Given the description of an element on the screen output the (x, y) to click on. 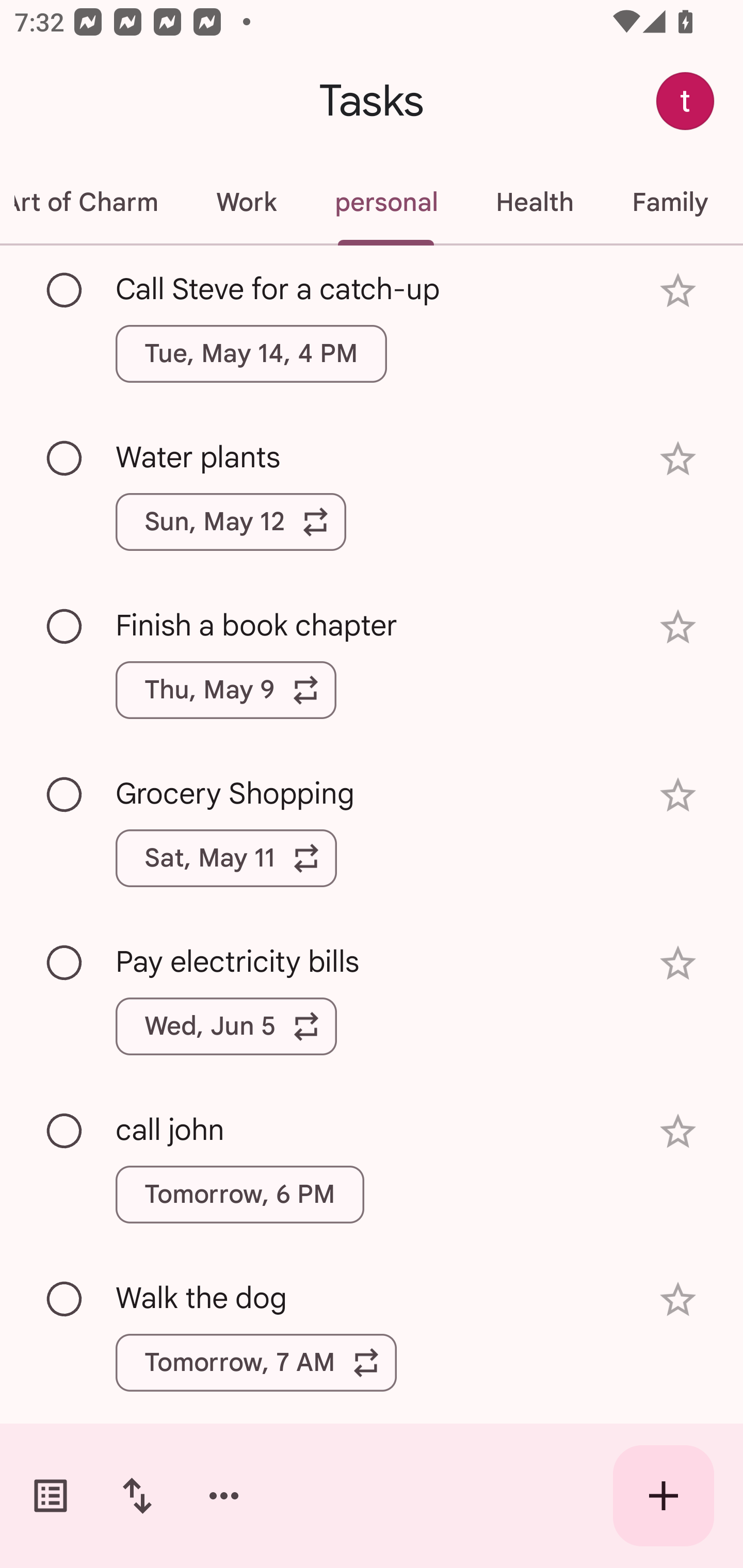
The Art of Charm (93, 202)
Work (245, 202)
Health (534, 202)
Family (669, 202)
Add star (677, 290)
Mark as complete (64, 290)
Tue, May 14, 4 PM (251, 353)
Add star (677, 458)
Mark as complete (64, 459)
Sun, May 12 (230, 522)
Add star (677, 627)
Mark as complete (64, 627)
Thu, May 9 (225, 689)
Add star (677, 795)
Mark as complete (64, 794)
Sat, May 11 (225, 858)
Add star (677, 963)
Mark as complete (64, 963)
Wed, Jun 5 (225, 1026)
Add star (677, 1131)
Mark as complete (64, 1132)
Tomorrow, 6 PM (239, 1193)
Add star (677, 1299)
Mark as complete (64, 1299)
Tomorrow, 7 AM (255, 1362)
Switch task lists (50, 1495)
Create new task (663, 1495)
Change sort order (136, 1495)
More options (223, 1495)
